Given the description of an element on the screen output the (x, y) to click on. 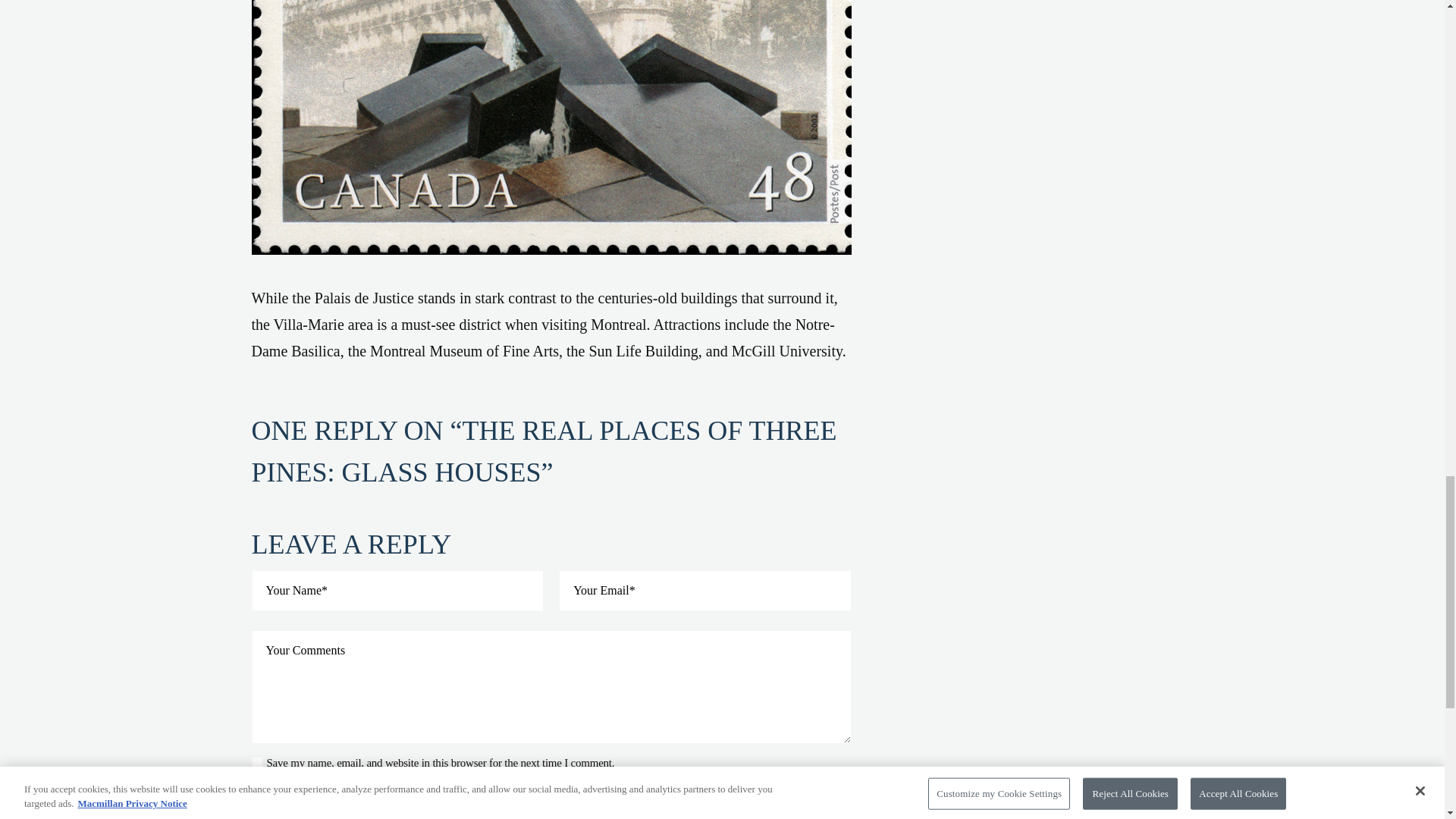
Post Comment (335, 805)
Post Comment (335, 805)
yes (257, 762)
